Given the description of an element on the screen output the (x, y) to click on. 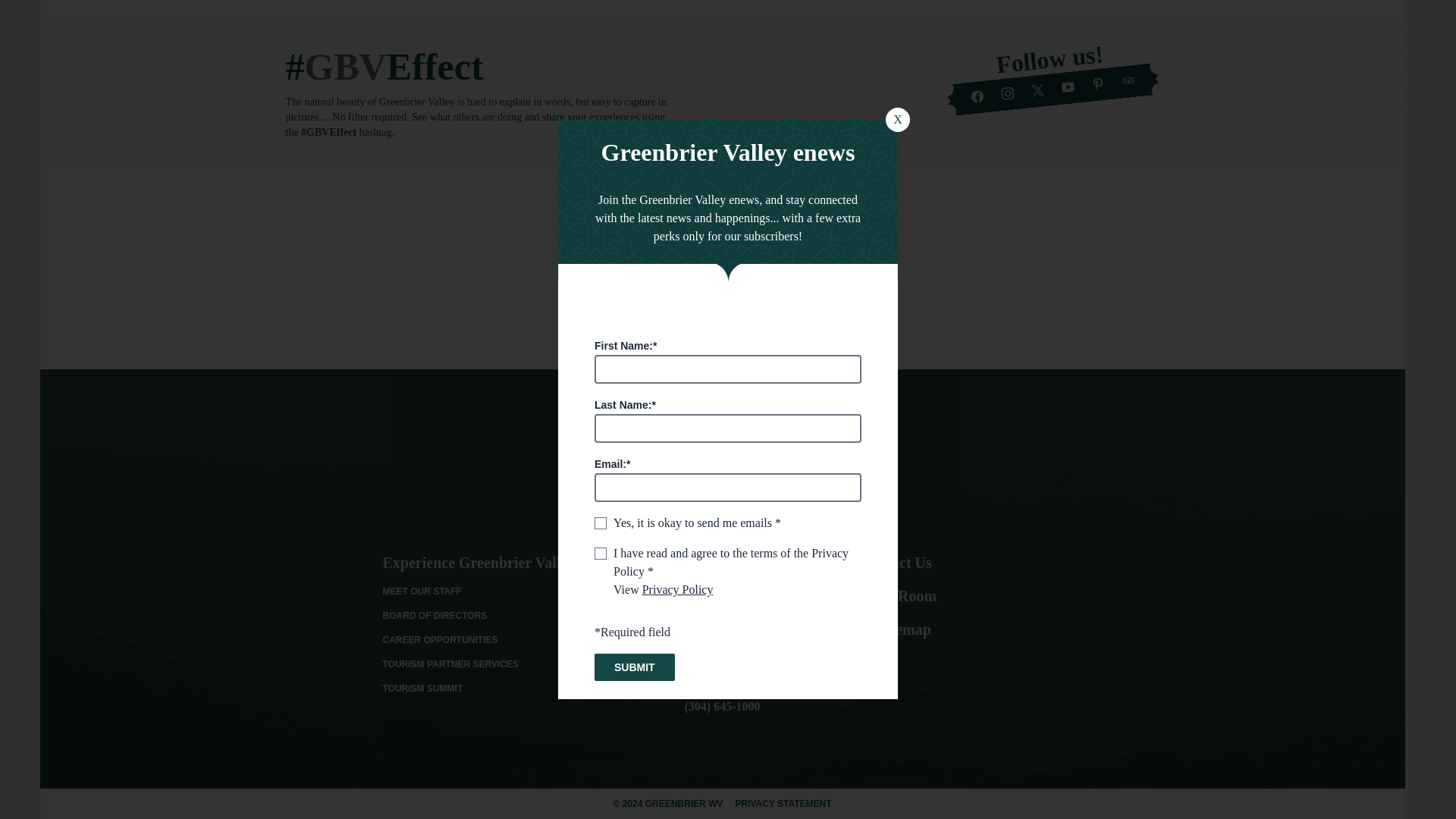
Tripadvisor A solid styled icon from Orion Icon Library. (1127, 79)
Social Pinterest SVG icon (719, 582)
Tripadvisor A solid styled icon from Orion Icon Library. (748, 582)
Social Pinterest SVG icon (1097, 83)
